Given the description of an element on the screen output the (x, y) to click on. 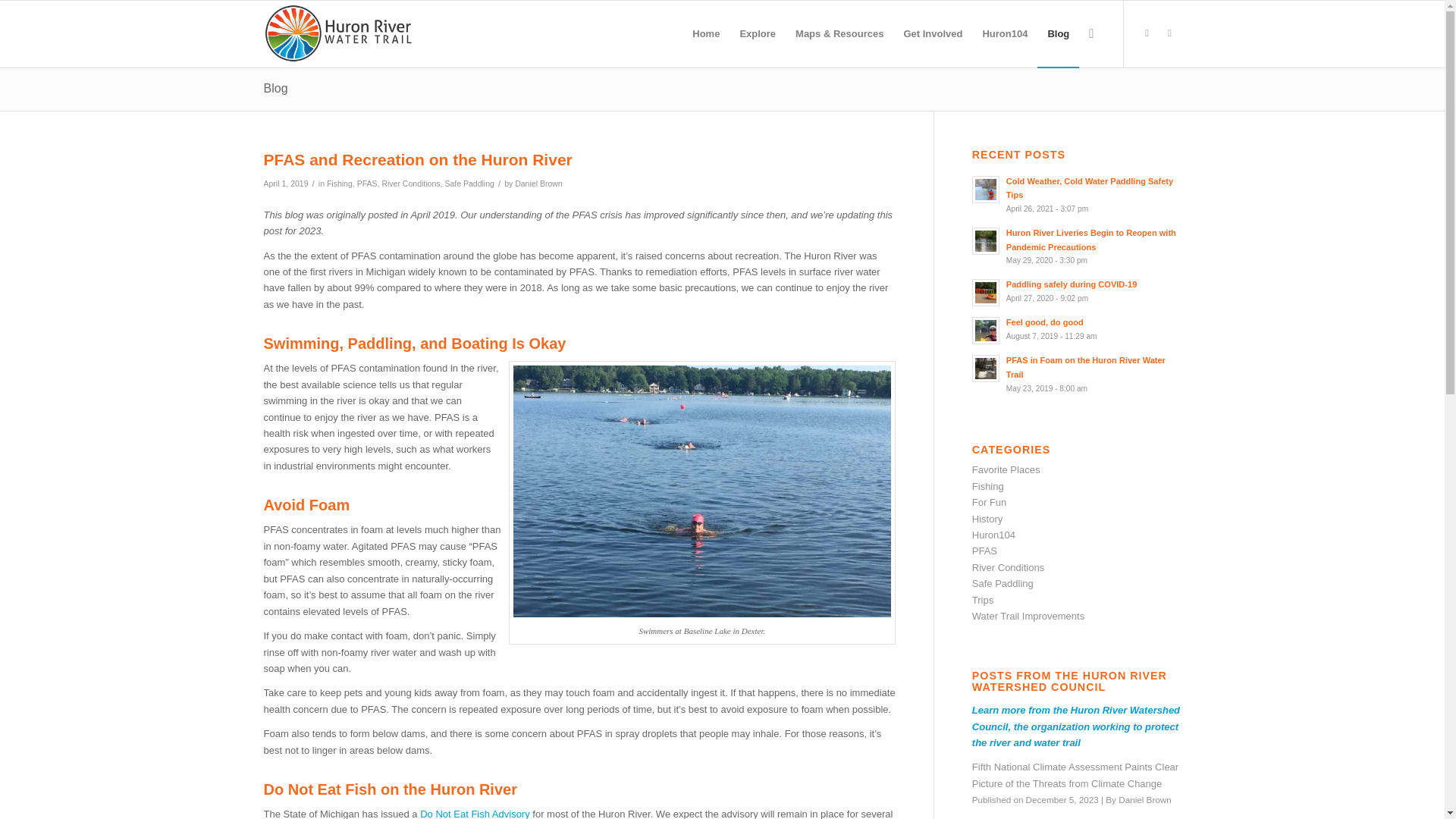
Instagram (1169, 33)
River Conditions (410, 183)
Permanent Link: Blog (275, 88)
Get Involved (932, 33)
Facebook (1146, 33)
Daniel Brown (538, 183)
Fishing (339, 183)
Safe Paddling (468, 183)
Blog (275, 88)
Do Not Eat Fish Advisory (474, 813)
